Given the description of an element on the screen output the (x, y) to click on. 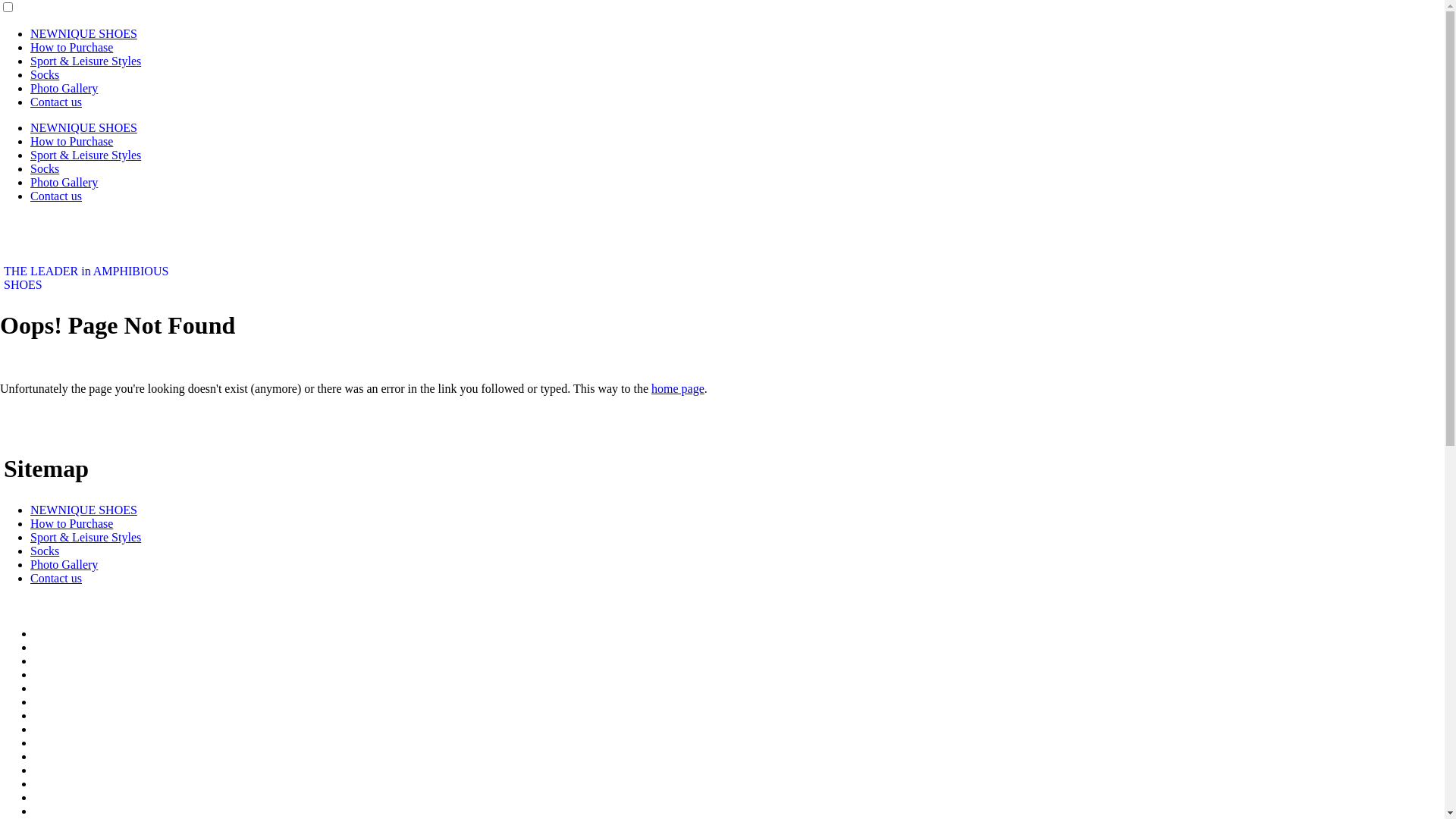
NEWNIQUE SHOES Element type: text (83, 33)
How to Purchase Element type: text (71, 46)
NEWNIQUE SHOES Element type: text (83, 127)
Sport & Leisure Styles Element type: text (85, 154)
How to Purchase Element type: text (71, 523)
Photo Gallery Element type: text (63, 564)
Socks Element type: text (44, 168)
THE LEADER in AMPHIBIOUS
SHOES Element type: text (85, 277)
How to Purchase Element type: text (71, 140)
Socks Element type: text (44, 550)
NEWNIQUE SHOES Element type: text (83, 509)
Sport & Leisure Styles Element type: text (85, 60)
Sport & Leisure Styles Element type: text (85, 536)
Photo Gallery Element type: text (63, 181)
home page Element type: text (677, 388)
Contact us Element type: text (55, 195)
Socks Element type: text (44, 74)
Contact us Element type: text (55, 577)
Photo Gallery Element type: text (63, 87)
Contact us Element type: text (55, 101)
